Given the description of an element on the screen output the (x, y) to click on. 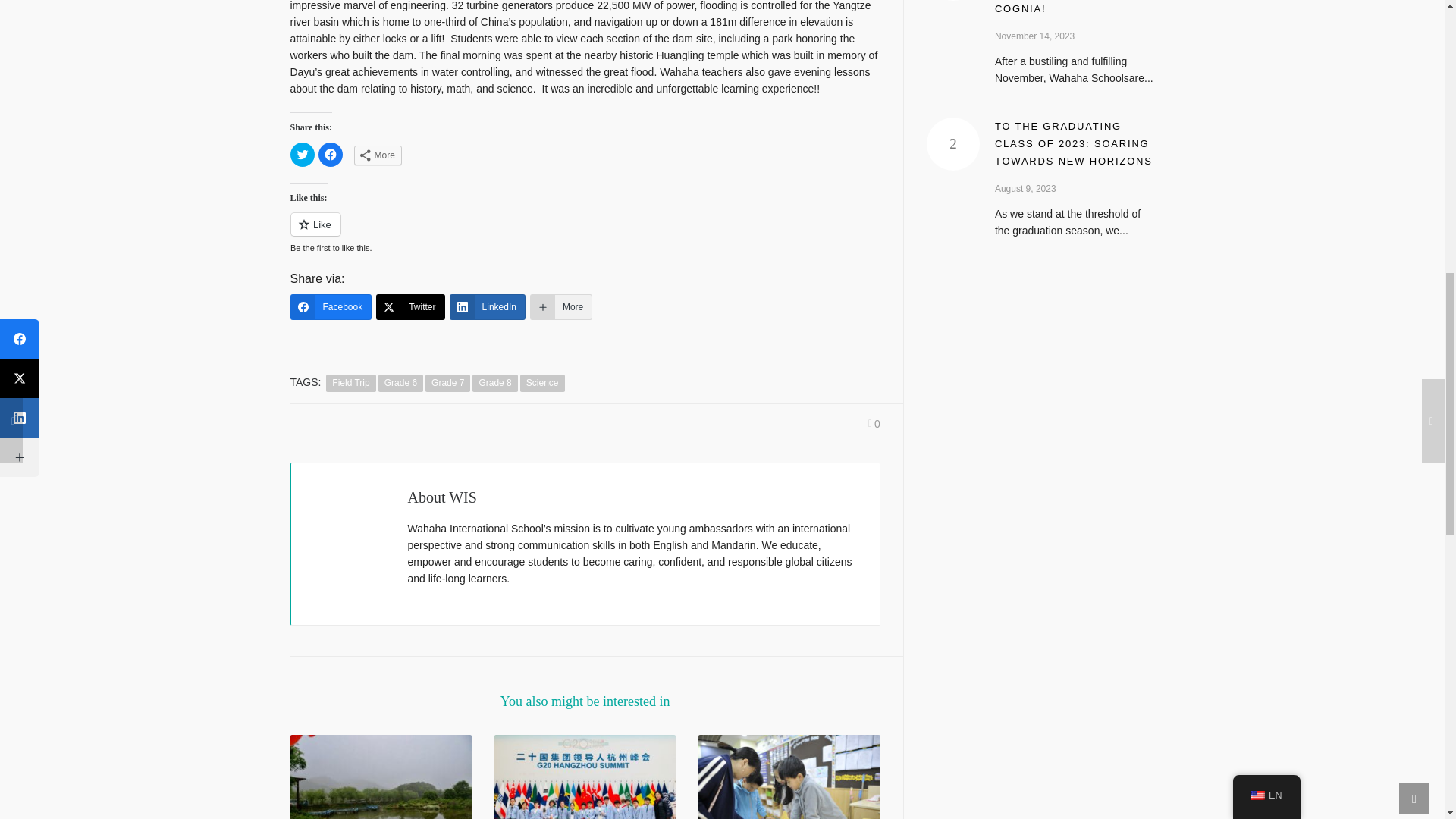
Wahaha Schools Receive Official Certification from Cognia! (1059, 7)
Click to share on Twitter (301, 154)
Wahaha Schools Receive Official Certification from Cognia! (952, 0)
Like or Reblog (584, 232)
Click to share on Facebook (330, 154)
